Given the description of an element on the screen output the (x, y) to click on. 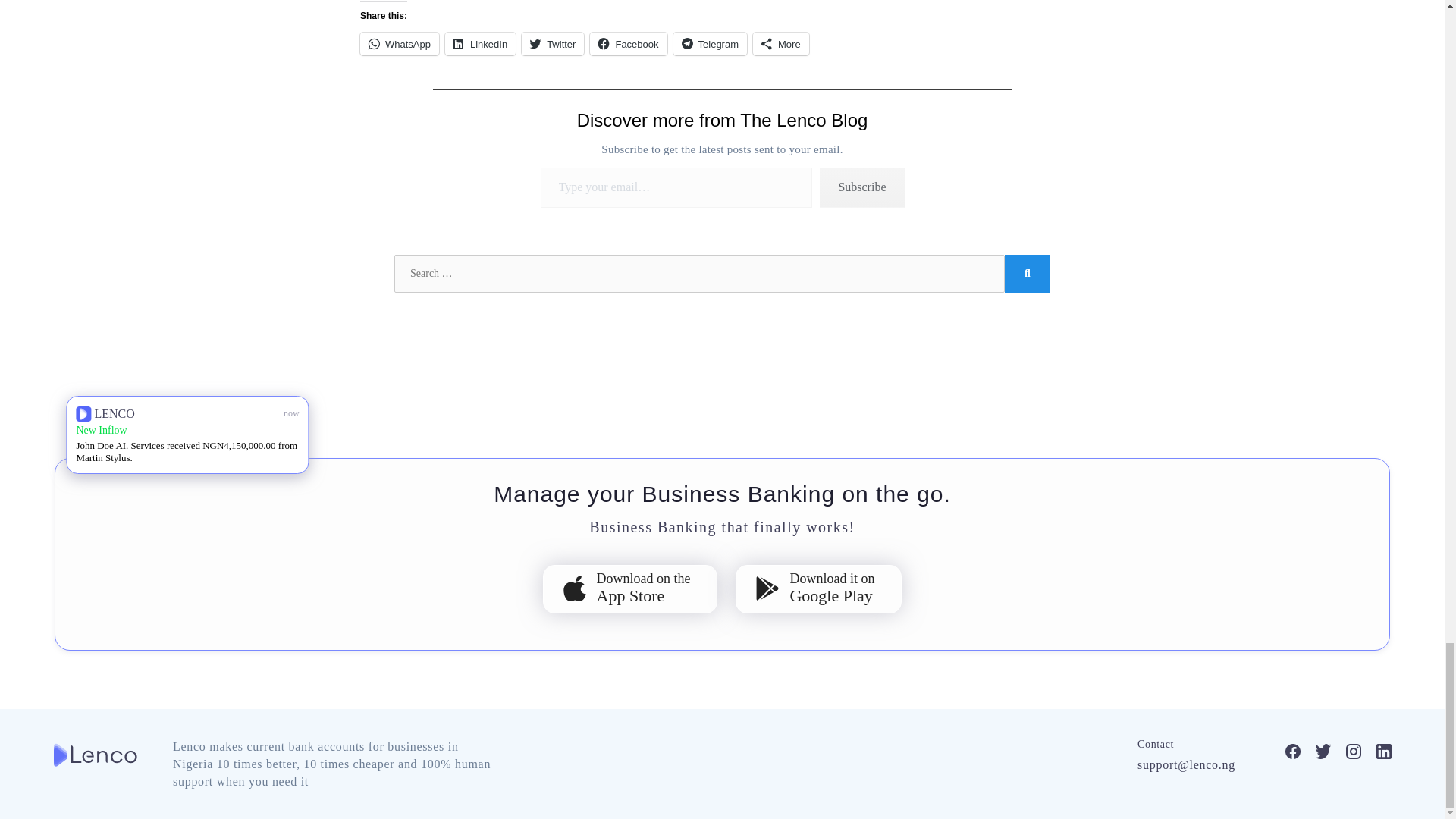
Click to share on Facebook (627, 43)
More (780, 43)
Telegram (709, 43)
WhatsApp (399, 43)
LinkedIn (480, 43)
Click to share on Telegram (709, 43)
Please fill in this field. (676, 187)
Subscribe (861, 187)
Search (1026, 273)
Twitter (552, 43)
